Given the description of an element on the screen output the (x, y) to click on. 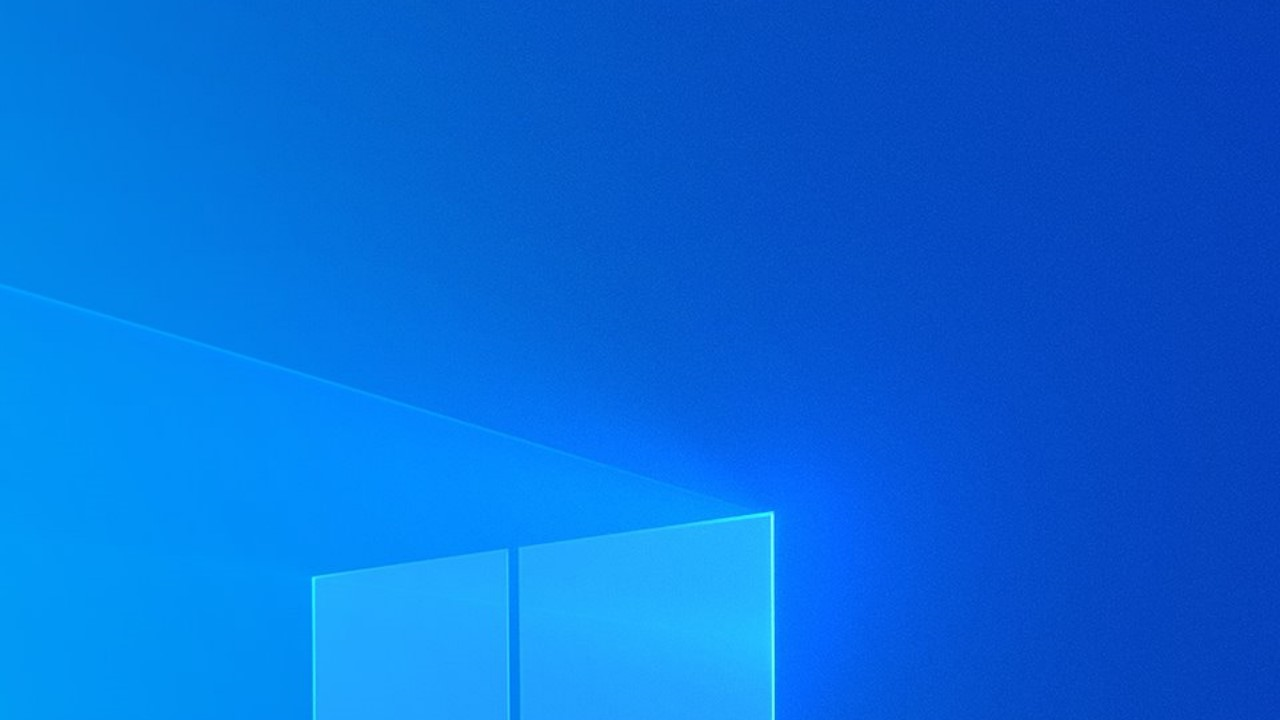
Scroll to top (1094, 143)
Scroll to bottom (587, 143)
Open in app (867, 53)
